Given the description of an element on the screen output the (x, y) to click on. 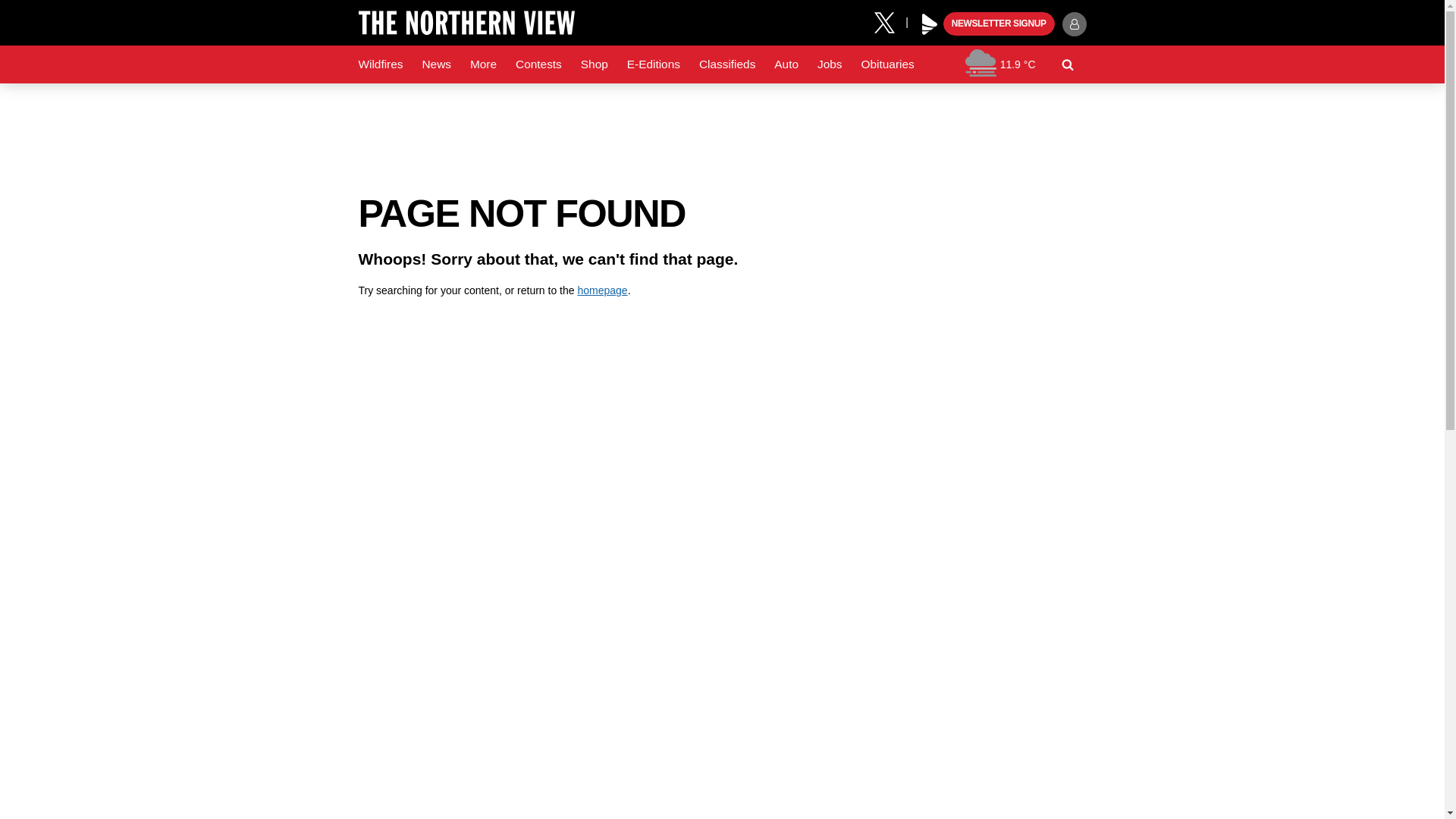
Wildfires (380, 64)
Play (929, 24)
X (889, 21)
News (435, 64)
Black Press Media (929, 24)
NEWSLETTER SIGNUP (998, 24)
